Given the description of an element on the screen output the (x, y) to click on. 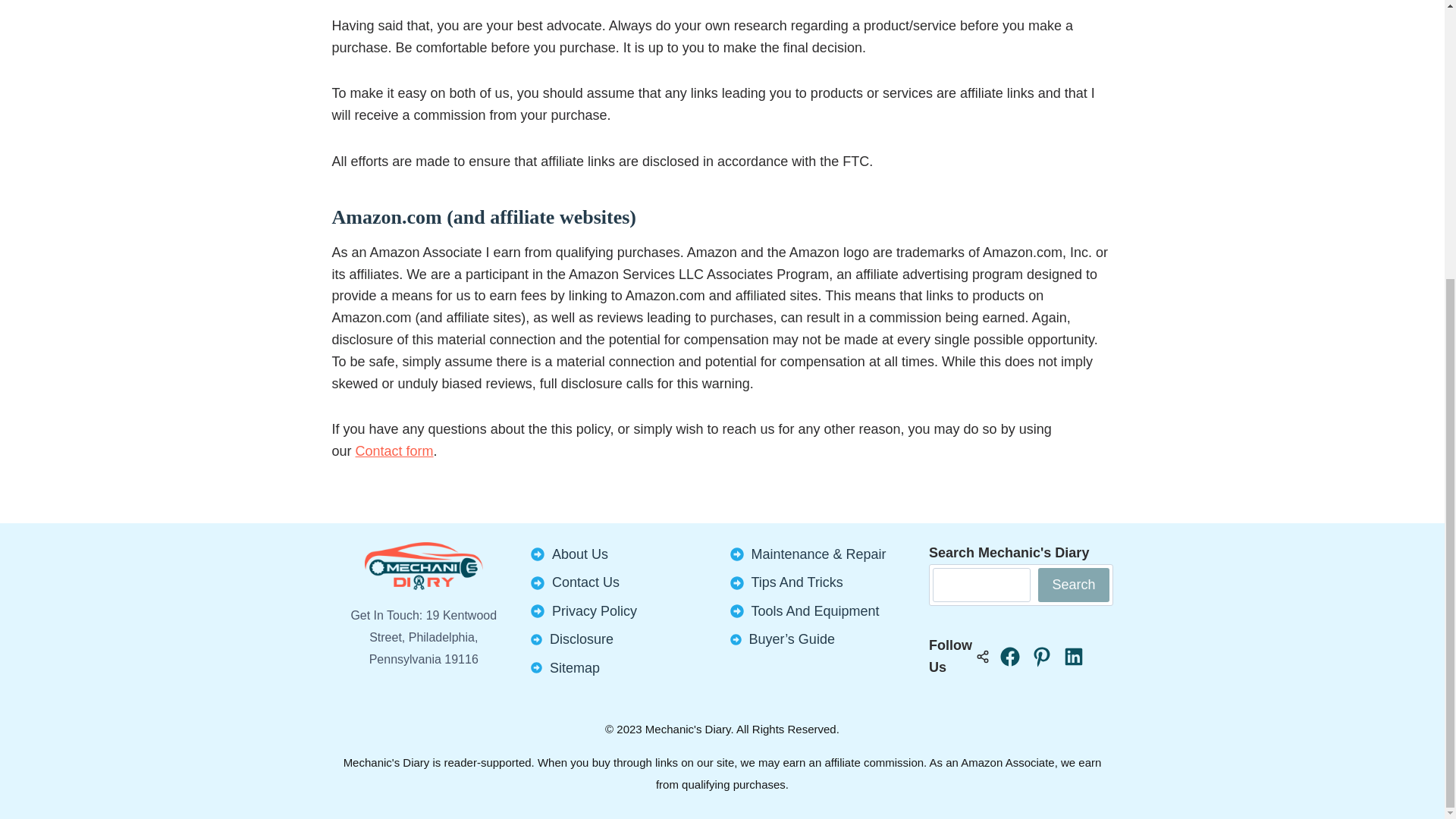
Tools And Equipment (815, 611)
About Us (579, 554)
Tips And Tricks (797, 581)
Privacy Policy (594, 611)
Contact form (394, 450)
Contact Us (585, 581)
Disclosure (581, 639)
Sitemap (574, 667)
